Given the description of an element on the screen output the (x, y) to click on. 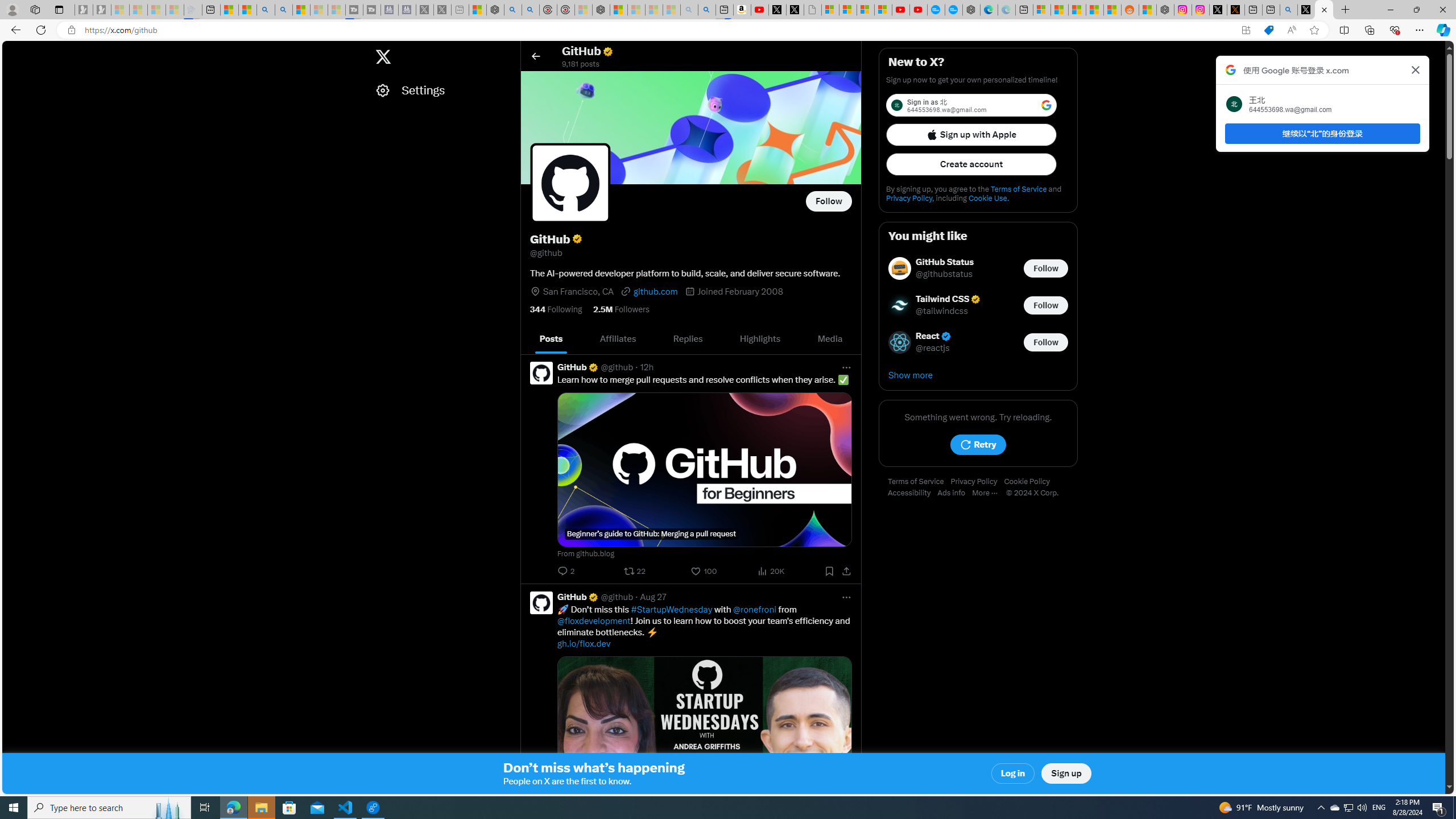
Aug 27 (652, 596)
Shanghai, China Weather trends | Microsoft Weather (1112, 9)
More (989, 492)
Tailwind CSS Verified account (948, 299)
Verified account (946, 336)
Provides details about verified accounts. (576, 238)
Square profile picture (541, 602)
Media (829, 338)
@github (616, 596)
GitHub Verified account (577, 596)
